Given the description of an element on the screen output the (x, y) to click on. 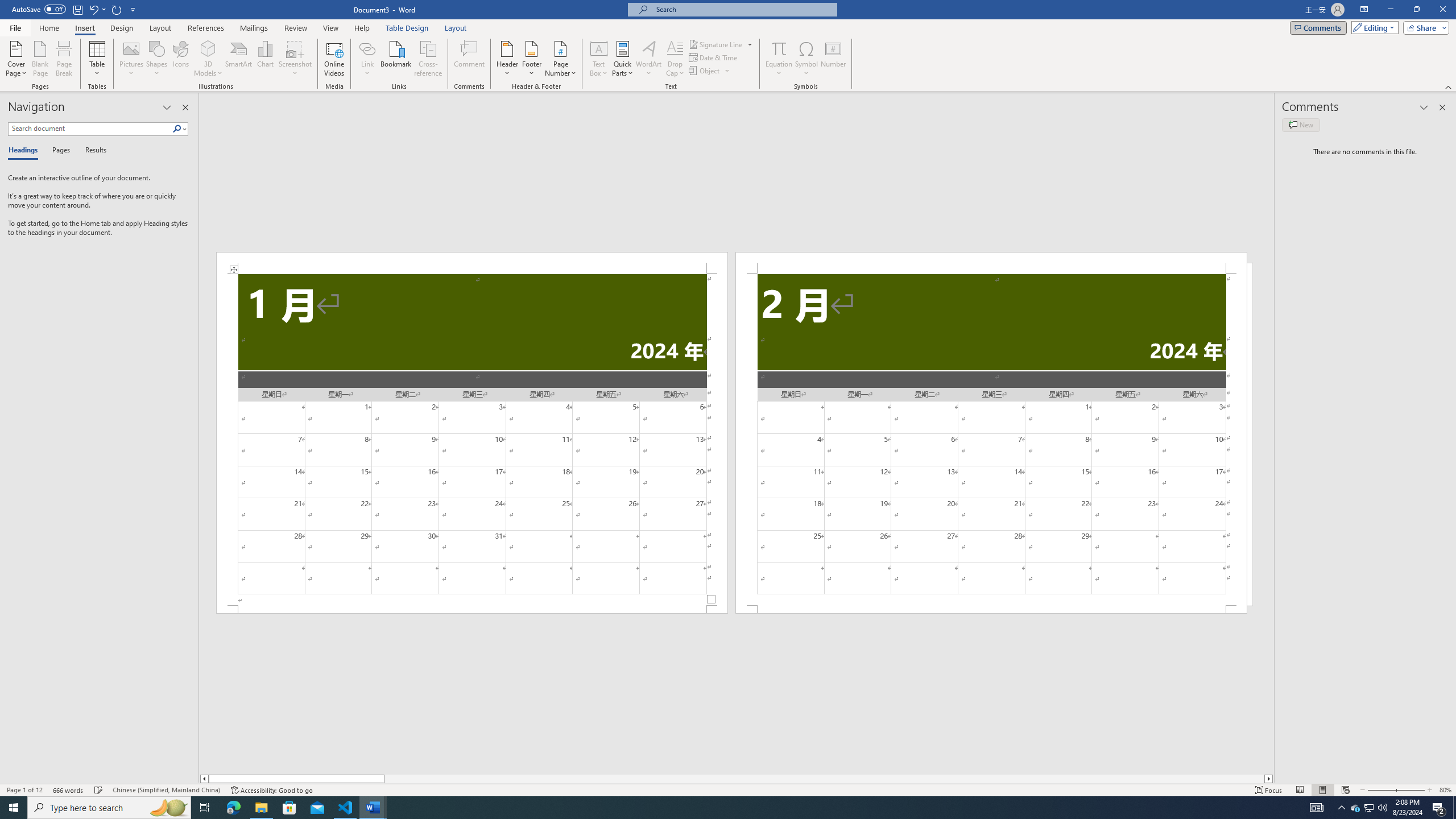
WordArt (648, 58)
Undo Increase Indent (92, 9)
Shapes (156, 58)
Home (48, 28)
AutoSave (38, 9)
Web Layout (1344, 790)
Print Layout (1322, 790)
New comment (1300, 124)
References (205, 28)
Table (97, 58)
Comments (1318, 27)
Header -Section 2- (991, 263)
Symbol (806, 58)
Text Box (598, 58)
